Given the description of an element on the screen output the (x, y) to click on. 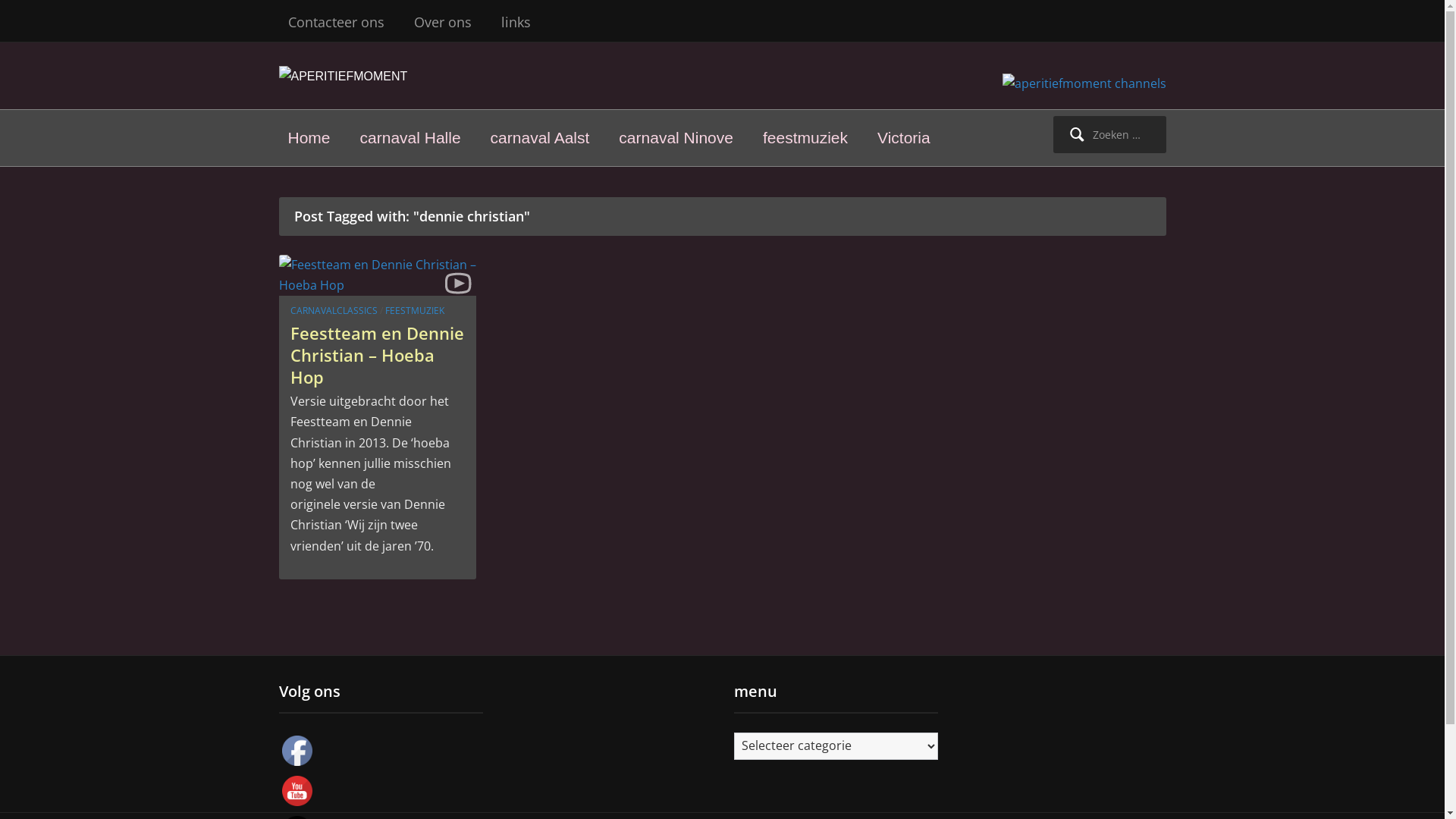
carnaval Halle Element type: text (410, 137)
Zoeken Element type: text (32, 16)
feestmuziek Element type: text (804, 137)
Volg ons op Facebook Element type: hover (297, 750)
links Element type: text (515, 22)
Volg onze 2 YouTube channels Element type: hover (297, 790)
carnaval Ninove Element type: text (675, 137)
Over ons Element type: text (442, 22)
Contacteer ons Element type: text (336, 22)
Victoria Element type: text (903, 137)
FEESTMUZIEK Element type: text (414, 310)
Home Element type: text (309, 137)
CARNAVALCLASSICS Element type: text (332, 310)
carnaval Aalst Element type: text (540, 137)
